Given the description of an element on the screen output the (x, y) to click on. 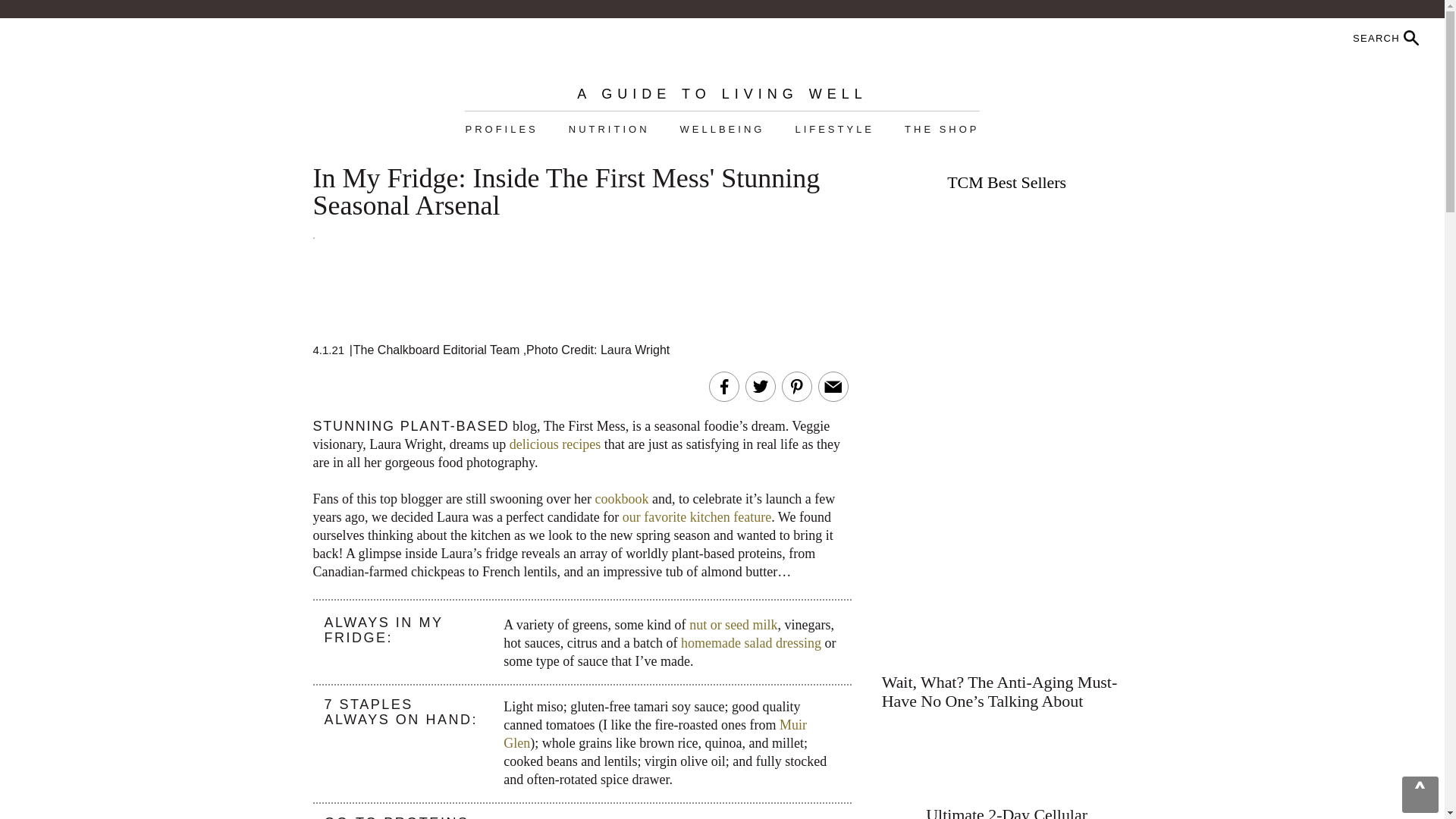
Search (1346, 37)
Email this article (833, 386)
Share this article on Facebook (724, 386)
Share an image of this article on Pinterest (797, 386)
The Chalkboard (721, 52)
Share this article on Twitter (760, 386)
